Given the description of an element on the screen output the (x, y) to click on. 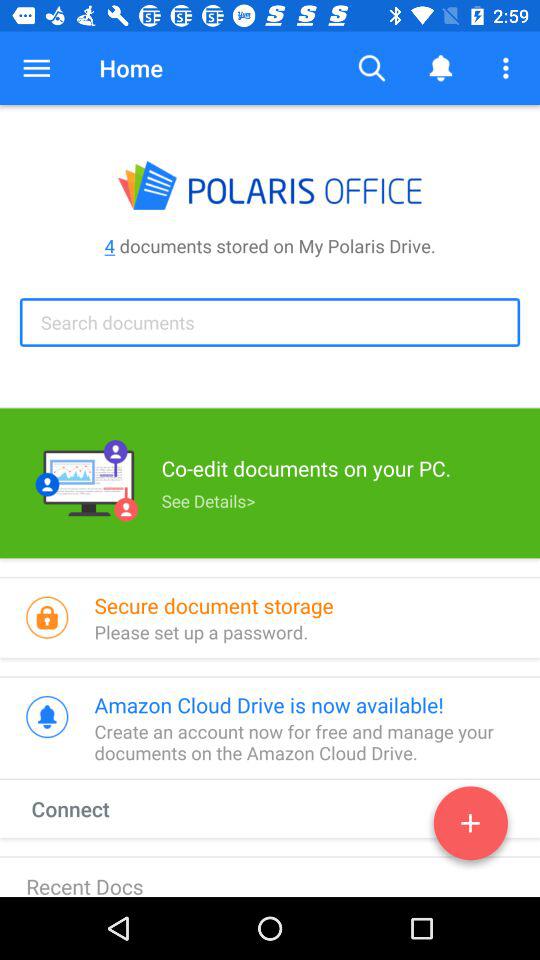
turn off home button (130, 68)
